Given the description of an element on the screen output the (x, y) to click on. 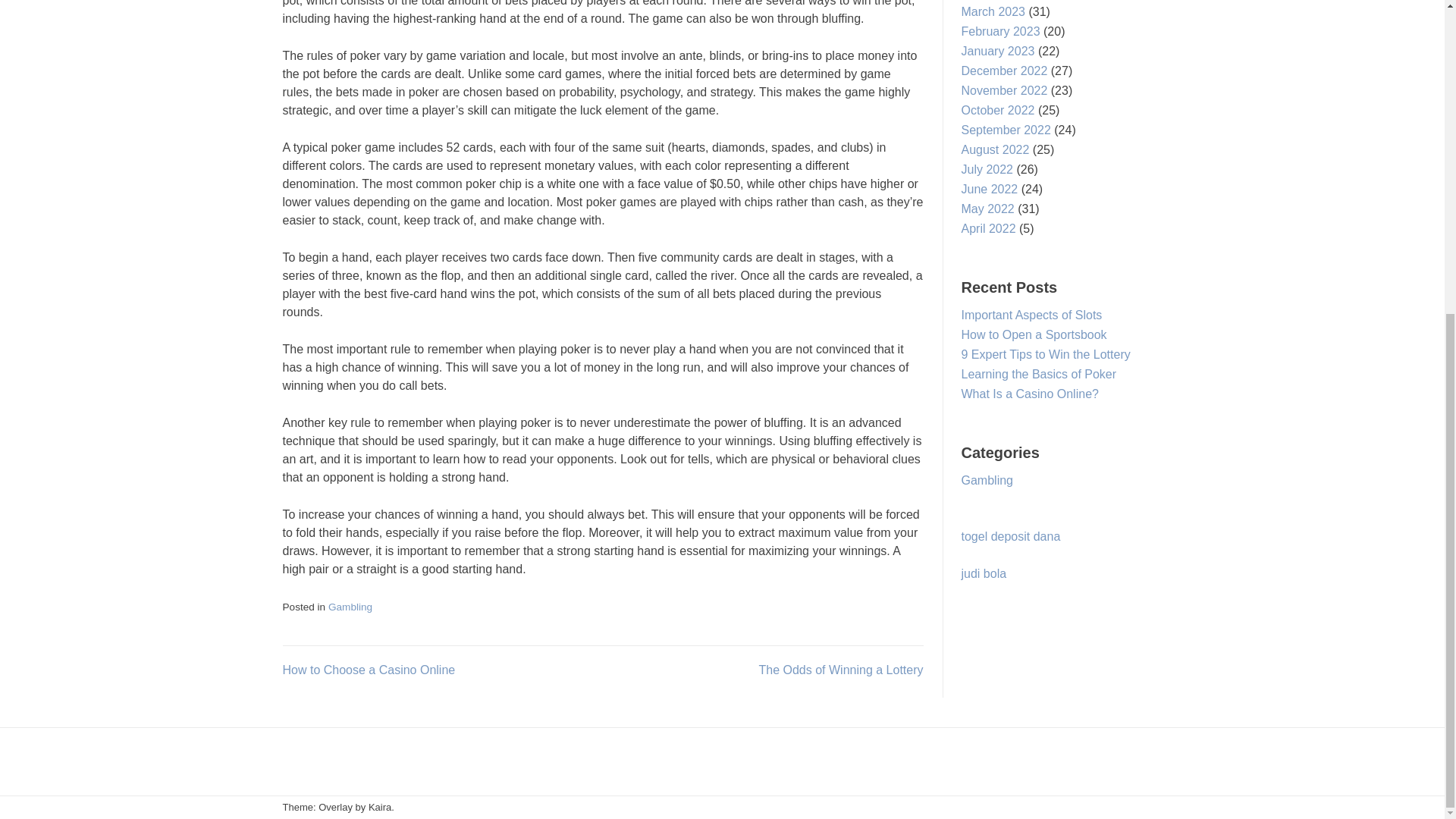
February 2023 (1000, 31)
August 2022 (994, 149)
May 2022 (987, 208)
July 2022 (986, 169)
November 2022 (1004, 90)
September 2022 (1005, 129)
June 2022 (988, 188)
April 2022 (988, 228)
Gambling (350, 606)
December 2022 (1004, 70)
October 2022 (997, 110)
How to Choose a Casino Online (368, 669)
March 2023 (993, 11)
January 2023 (997, 51)
The Odds of Winning a Lottery (840, 669)
